Given the description of an element on the screen output the (x, y) to click on. 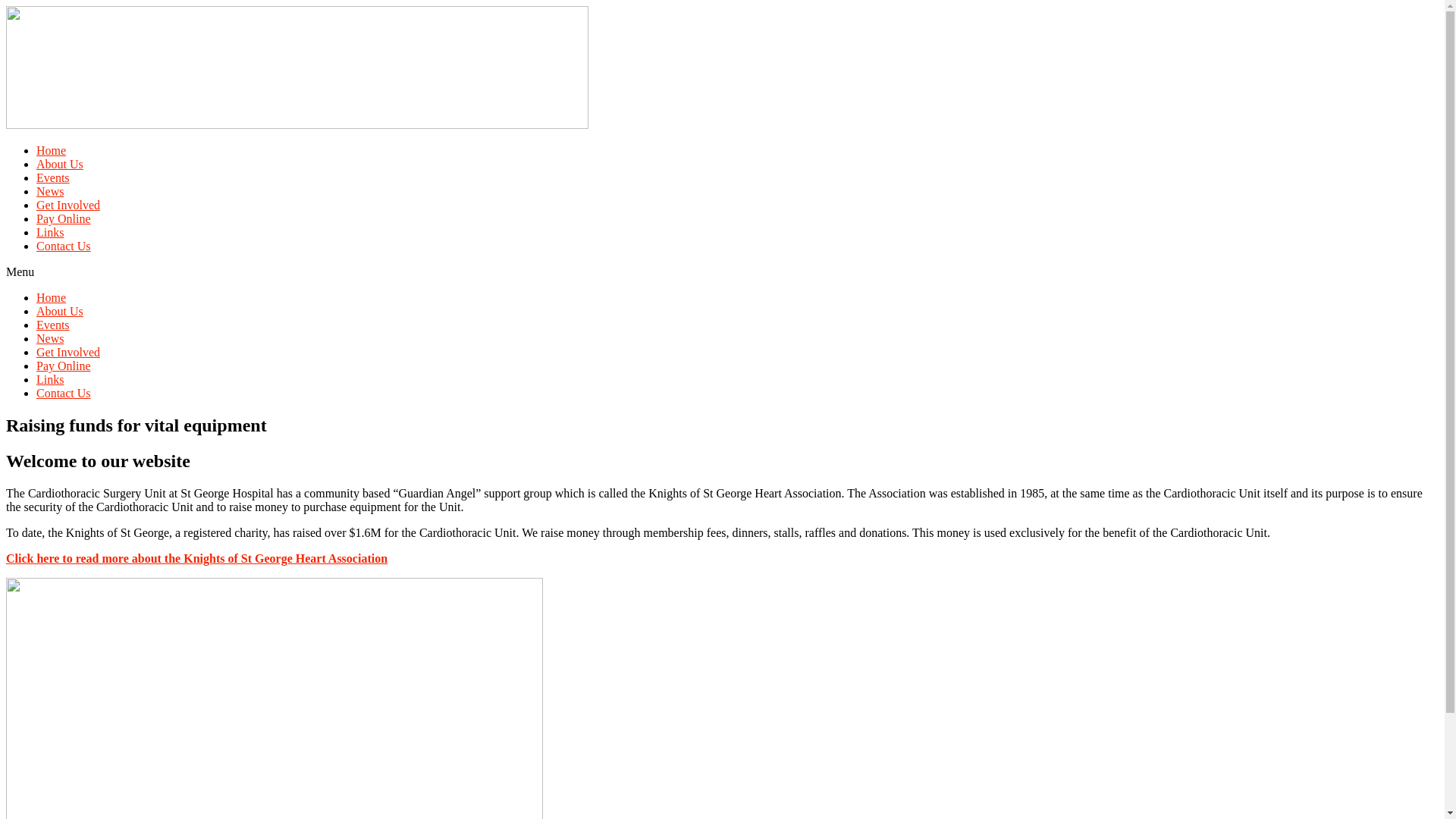
Home Element type: text (50, 150)
News Element type: text (49, 338)
Events Element type: text (52, 324)
Links Element type: text (49, 379)
Links Element type: text (49, 231)
Pay Online Element type: text (63, 218)
Home Element type: text (50, 297)
News Element type: text (49, 191)
Pay Online Element type: text (63, 365)
Get Involved Element type: text (68, 204)
Contact Us Element type: text (63, 392)
Events Element type: text (52, 177)
About Us Element type: text (59, 310)
Get Involved Element type: text (68, 351)
Contact Us Element type: text (63, 245)
About Us Element type: text (59, 163)
